Given the description of an element on the screen output the (x, y) to click on. 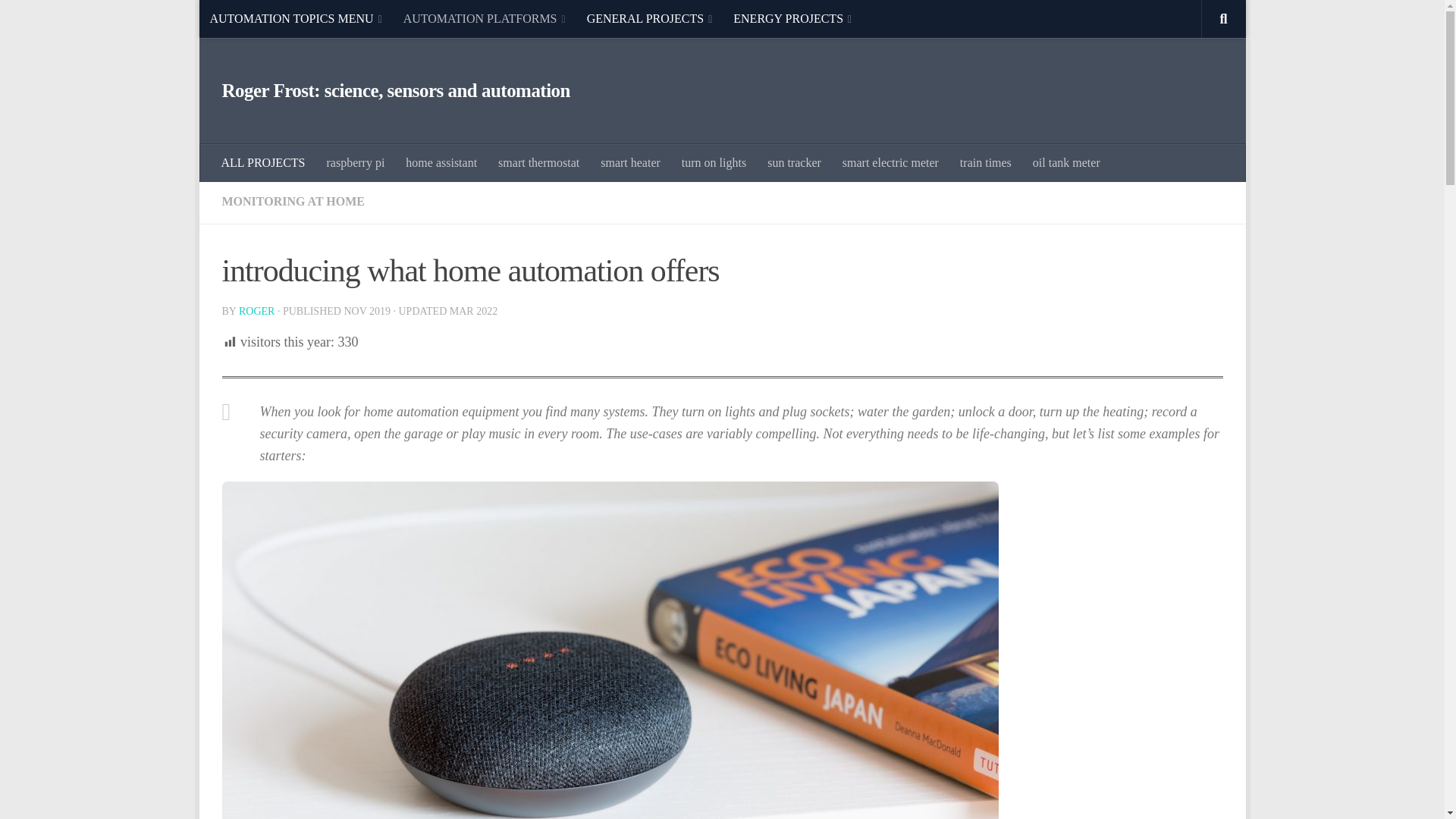
Posts by roger (256, 310)
nest and hive (538, 162)
A project to make an immersion heater smarter (630, 162)
Below content (255, 20)
see the list of all the home automation projects  (263, 162)
Uses for a Raspberry Pi computer (354, 162)
